Given the description of an element on the screen output the (x, y) to click on. 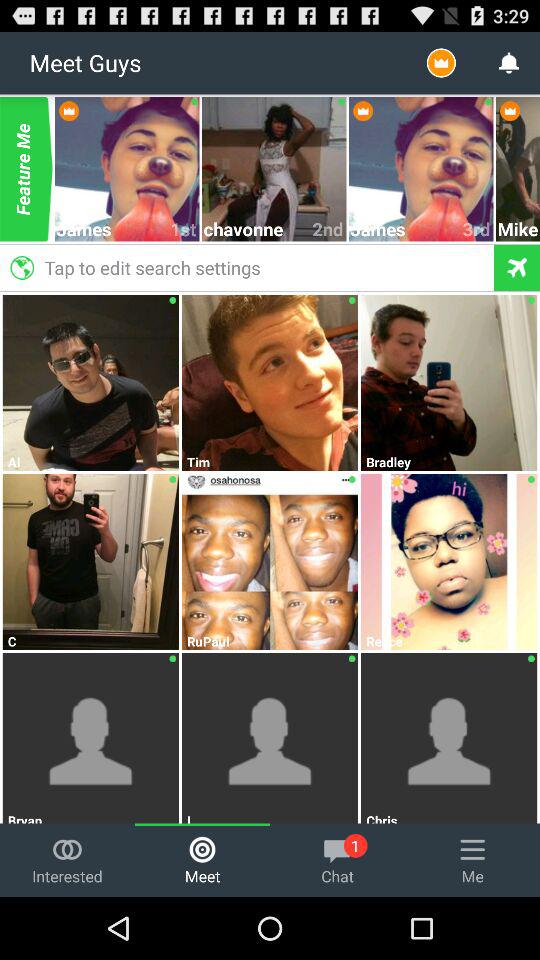
launch the 2nd item (328, 228)
